Given the description of an element on the screen output the (x, y) to click on. 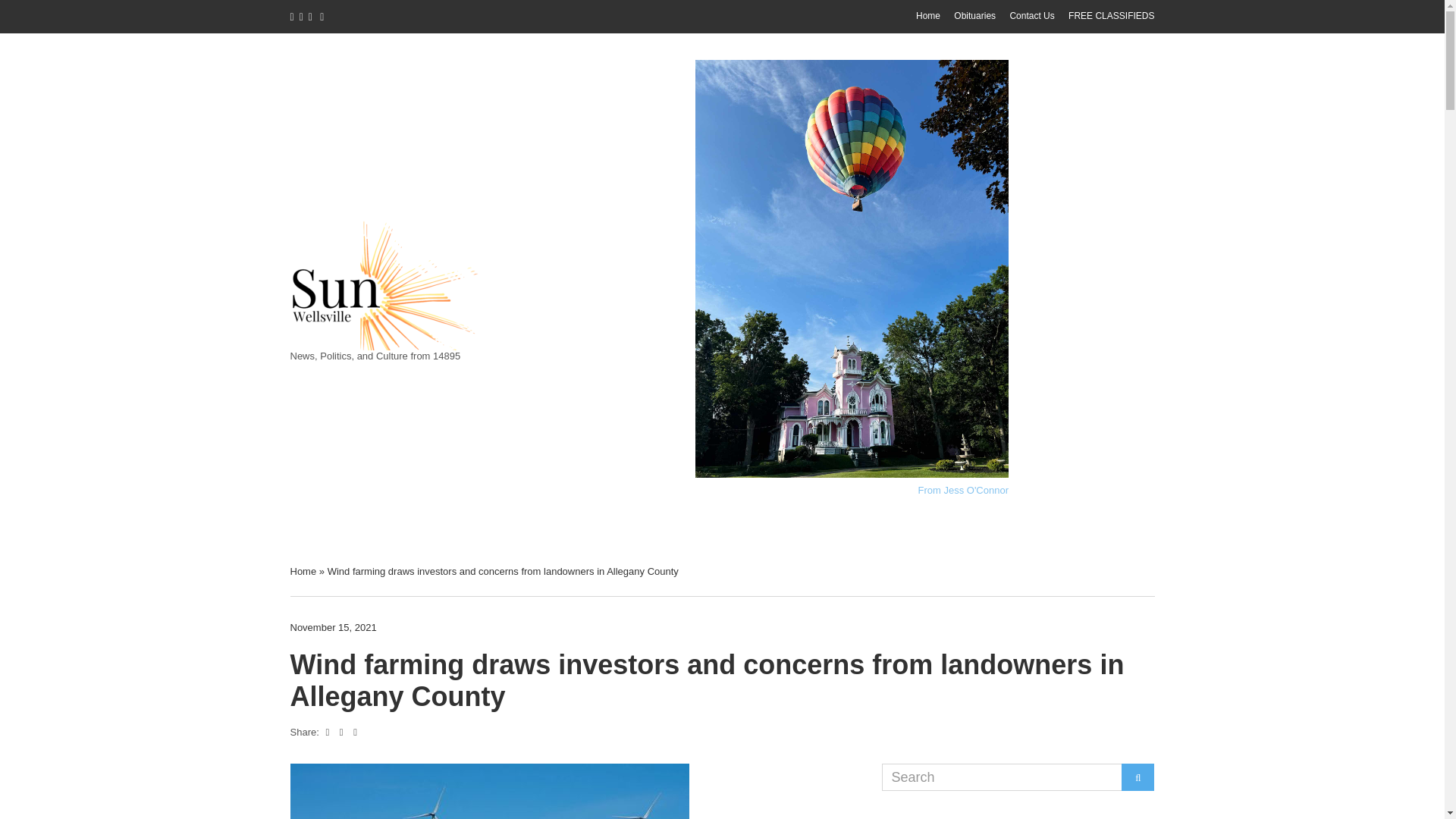
Home (927, 15)
Contact Us (1031, 15)
Home (302, 571)
Obituaries (974, 15)
FREE CLASSIFIEDS (1111, 15)
From Jess O'Connor (963, 490)
